Given the description of an element on the screen output the (x, y) to click on. 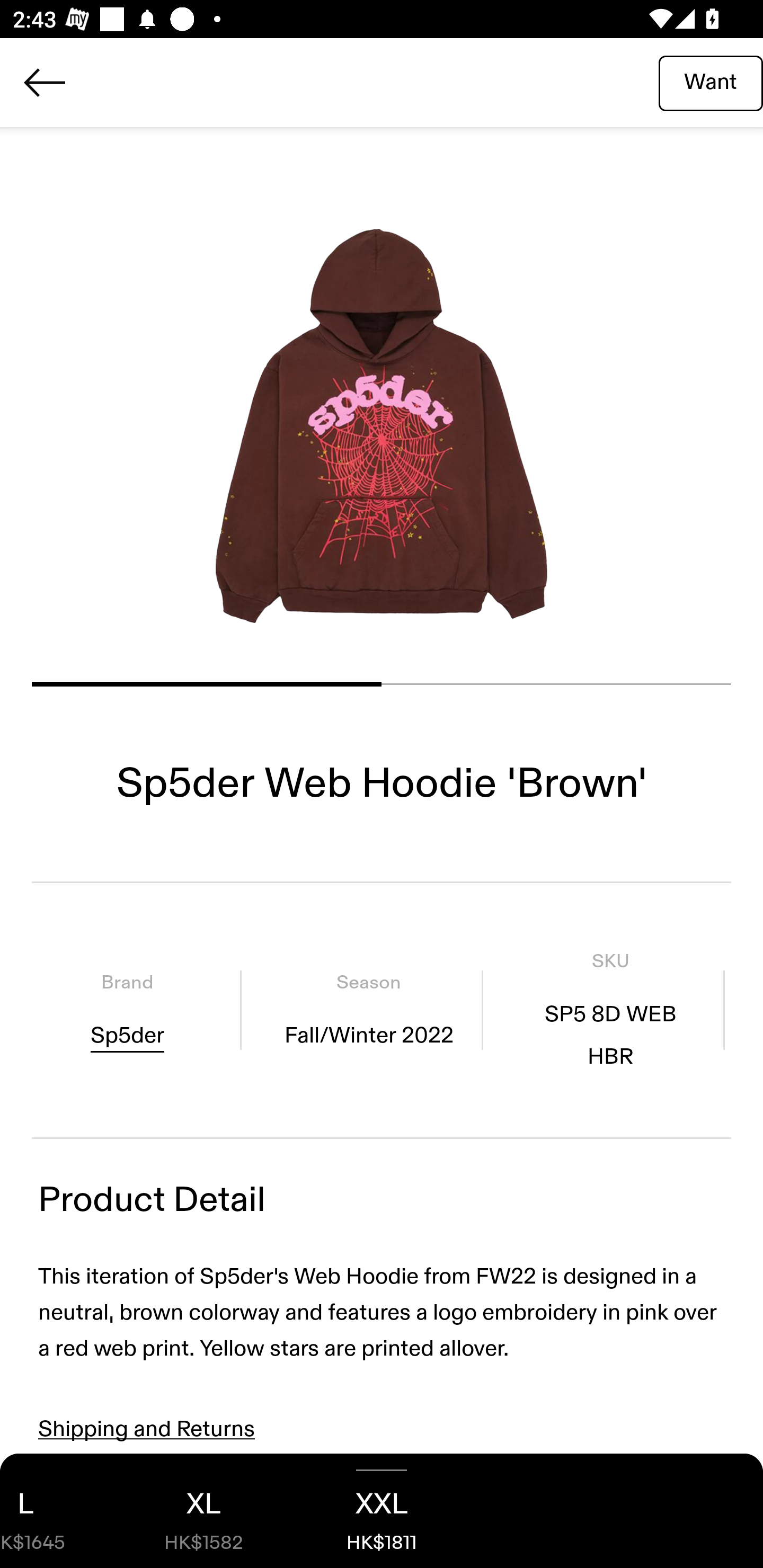
Want (710, 82)
Brand Sp5der (126, 1009)
Season Fall/Winter 2022 (368, 1009)
SKU SP5 8D WEB HBR (609, 1009)
Shipping and Returns (146, 1429)
L HK$1645 (57, 1510)
XL HK$1582 (203, 1510)
XXL HK$1811 (381, 1510)
